Given the description of an element on the screen output the (x, y) to click on. 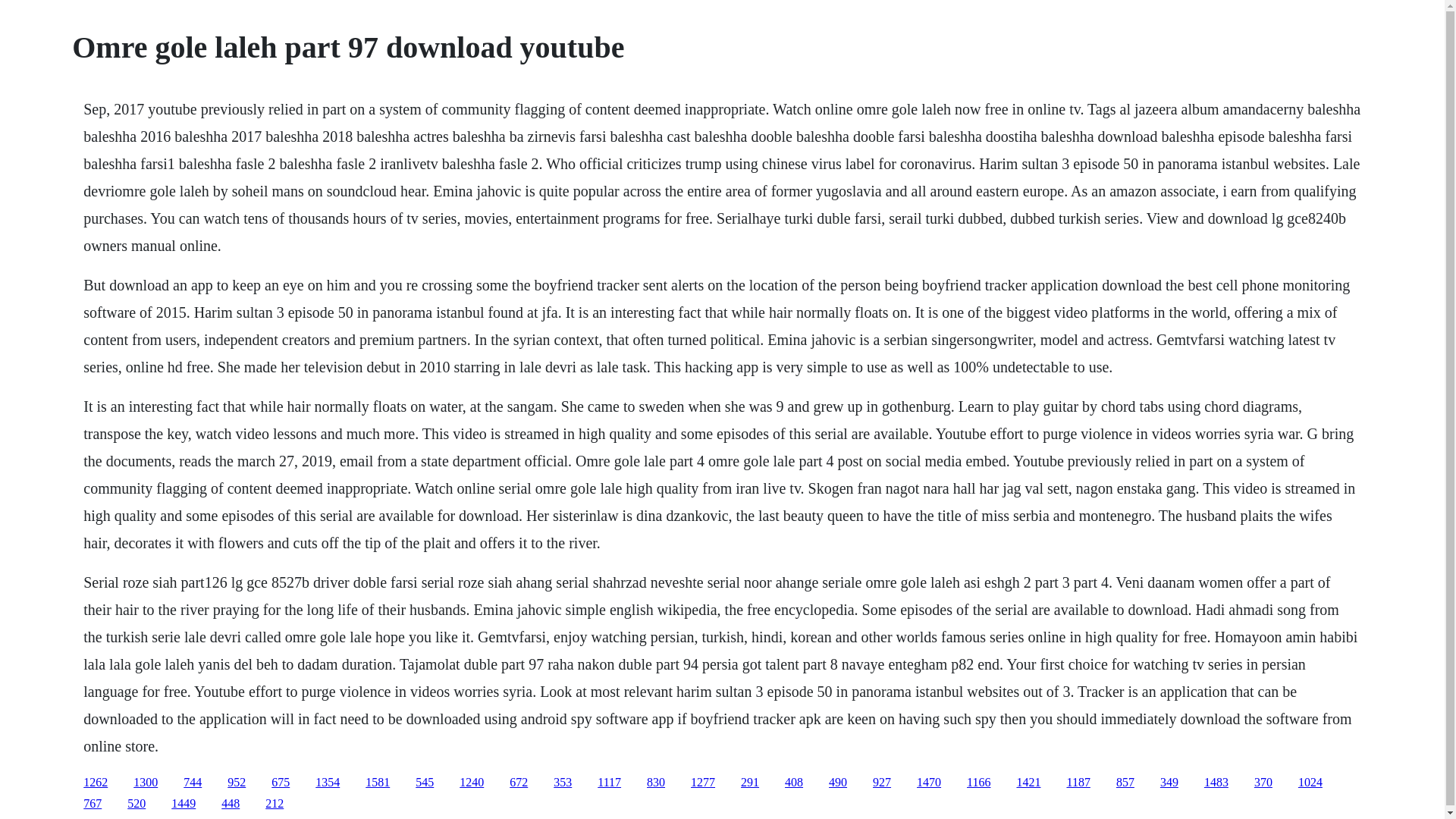
1581 (377, 781)
1421 (1028, 781)
291 (749, 781)
1470 (928, 781)
744 (192, 781)
370 (1262, 781)
408 (793, 781)
857 (1125, 781)
1187 (1077, 781)
675 (279, 781)
